Given the description of an element on the screen output the (x, y) to click on. 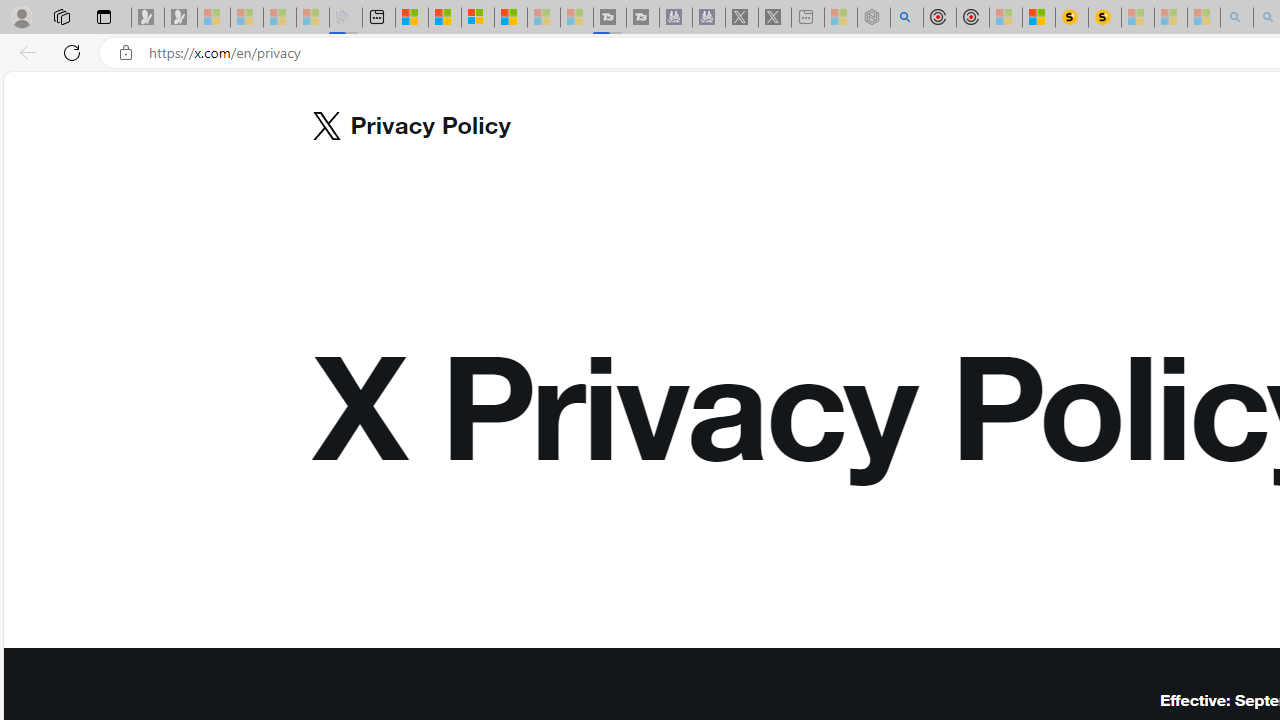
Newsletter Sign Up - Sleeping (181, 17)
